Given the description of an element on the screen output the (x, y) to click on. 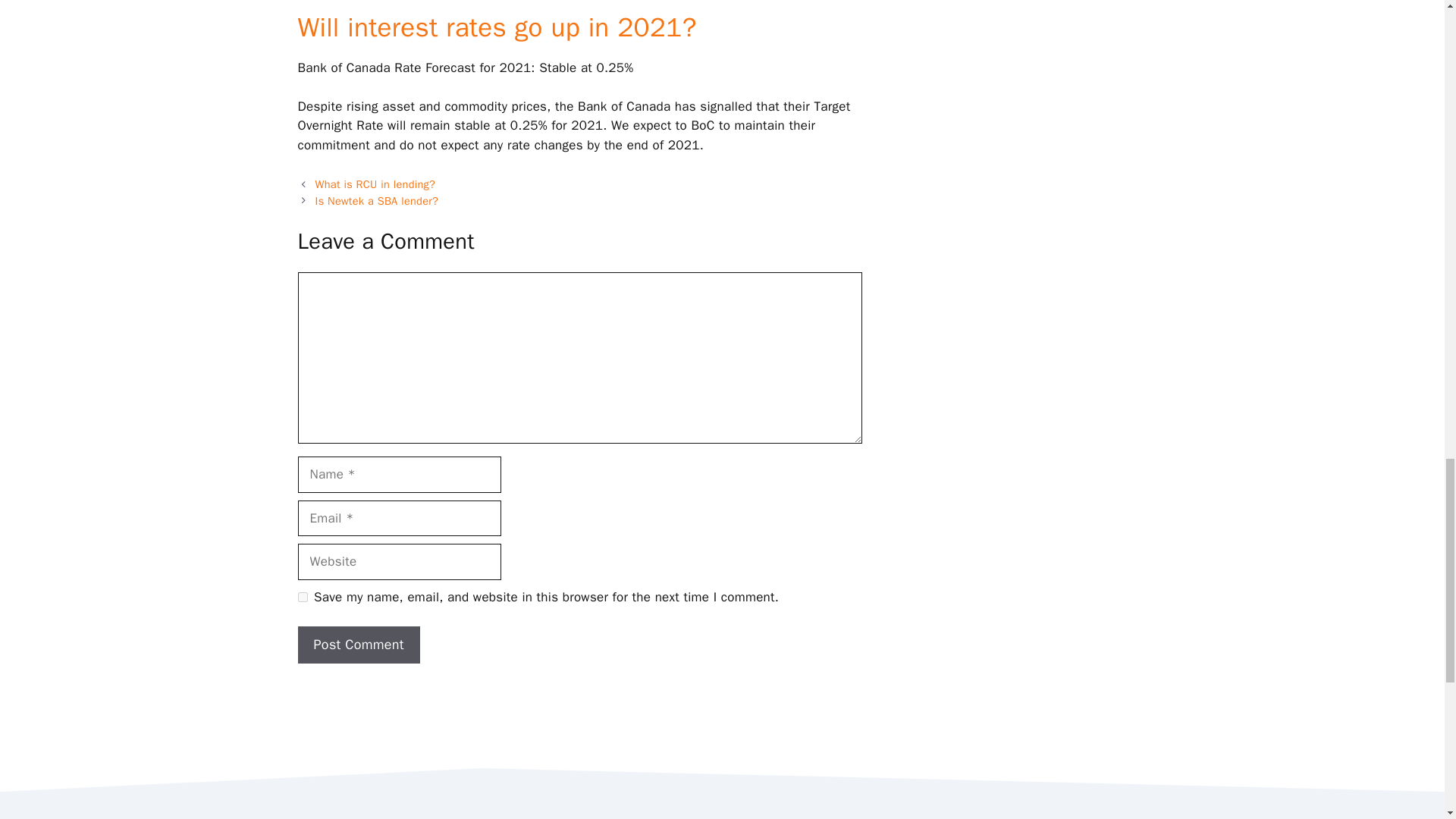
Will interest rates go up in 2021? (496, 27)
Post Comment (358, 644)
What is RCU in lending? (375, 183)
Will interest rates go up in 2021? (496, 27)
Is Newtek a SBA lender? (377, 201)
Post Comment (358, 644)
yes (302, 596)
